Given the description of an element on the screen output the (x, y) to click on. 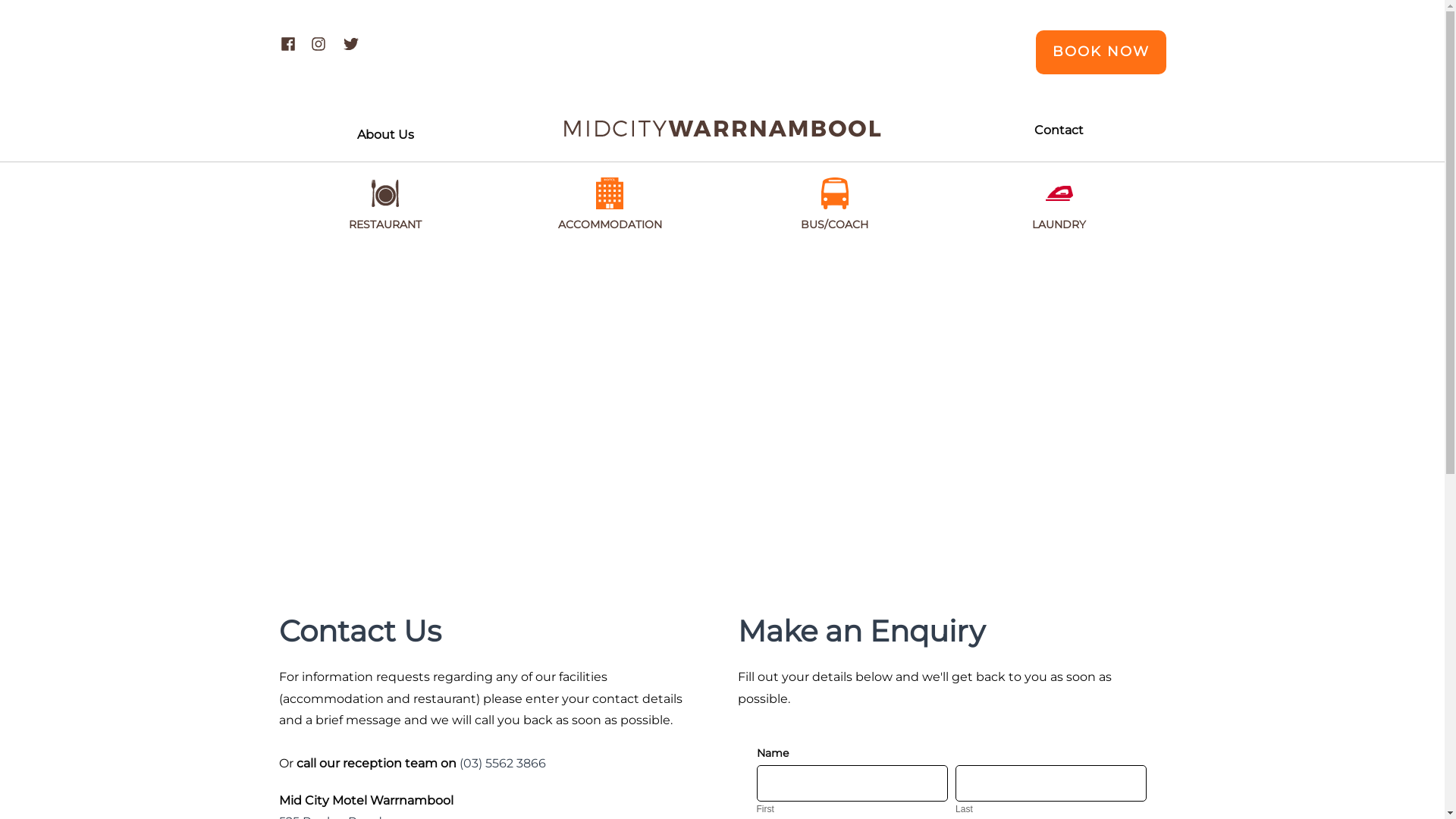
menu-icon-restaurant Element type: hover (384, 193)
Contact Element type: text (1058, 130)
BOOK NOW Element type: text (1100, 52)
menu-icon-aacom[1] Element type: hover (609, 193)
logo[1] Element type: hover (722, 128)
About Us Element type: text (385, 134)
menu-icon-laundry Element type: hover (1059, 193)
(03) 5562 3866 Element type: text (502, 763)
menu-icon-bus-coach[1] Element type: hover (834, 193)
